Given the description of an element on the screen output the (x, y) to click on. 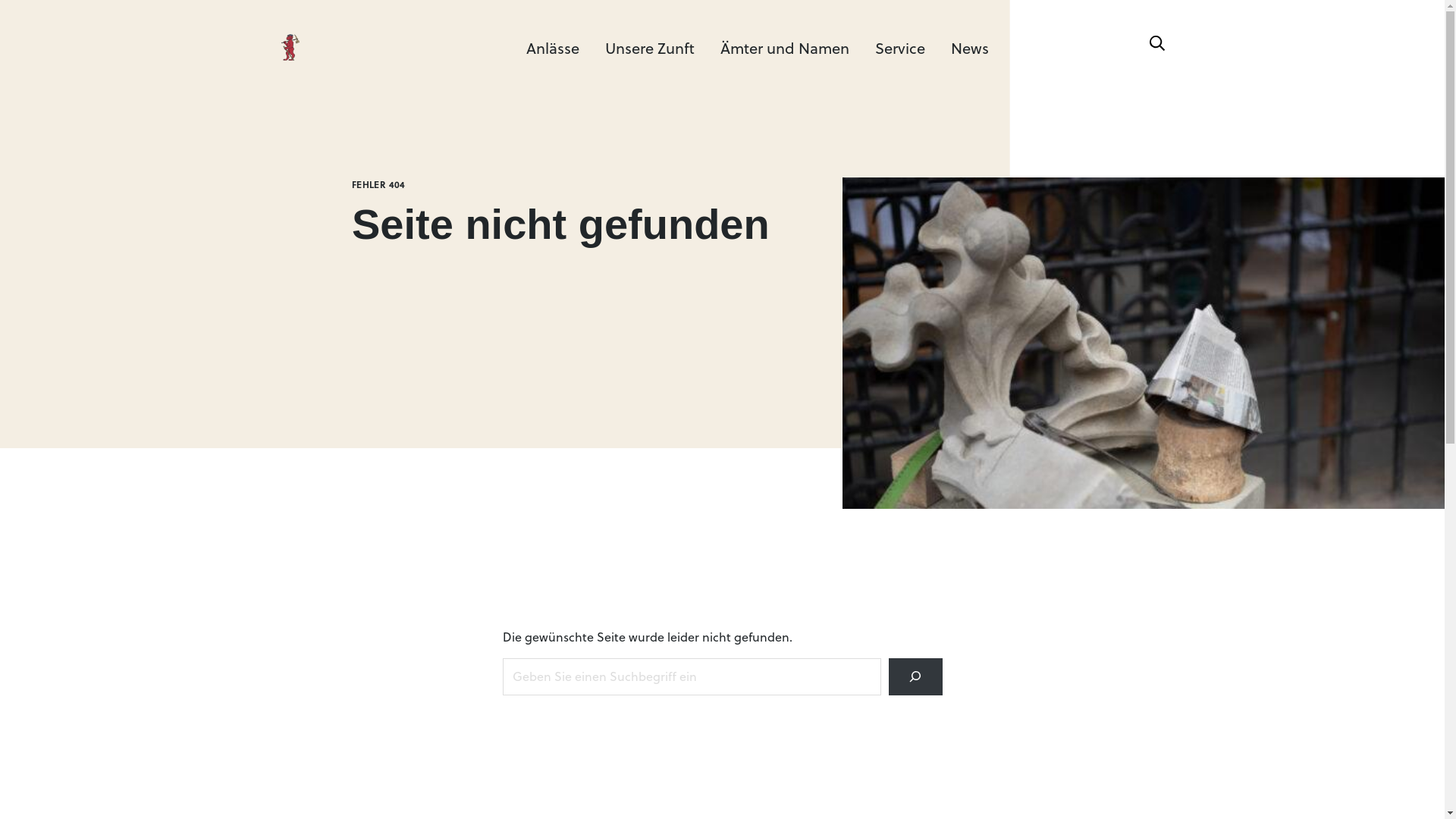
Service Element type: text (900, 47)
News Element type: text (969, 47)
Unsere Zunft Element type: text (649, 47)
